Given the description of an element on the screen output the (x, y) to click on. 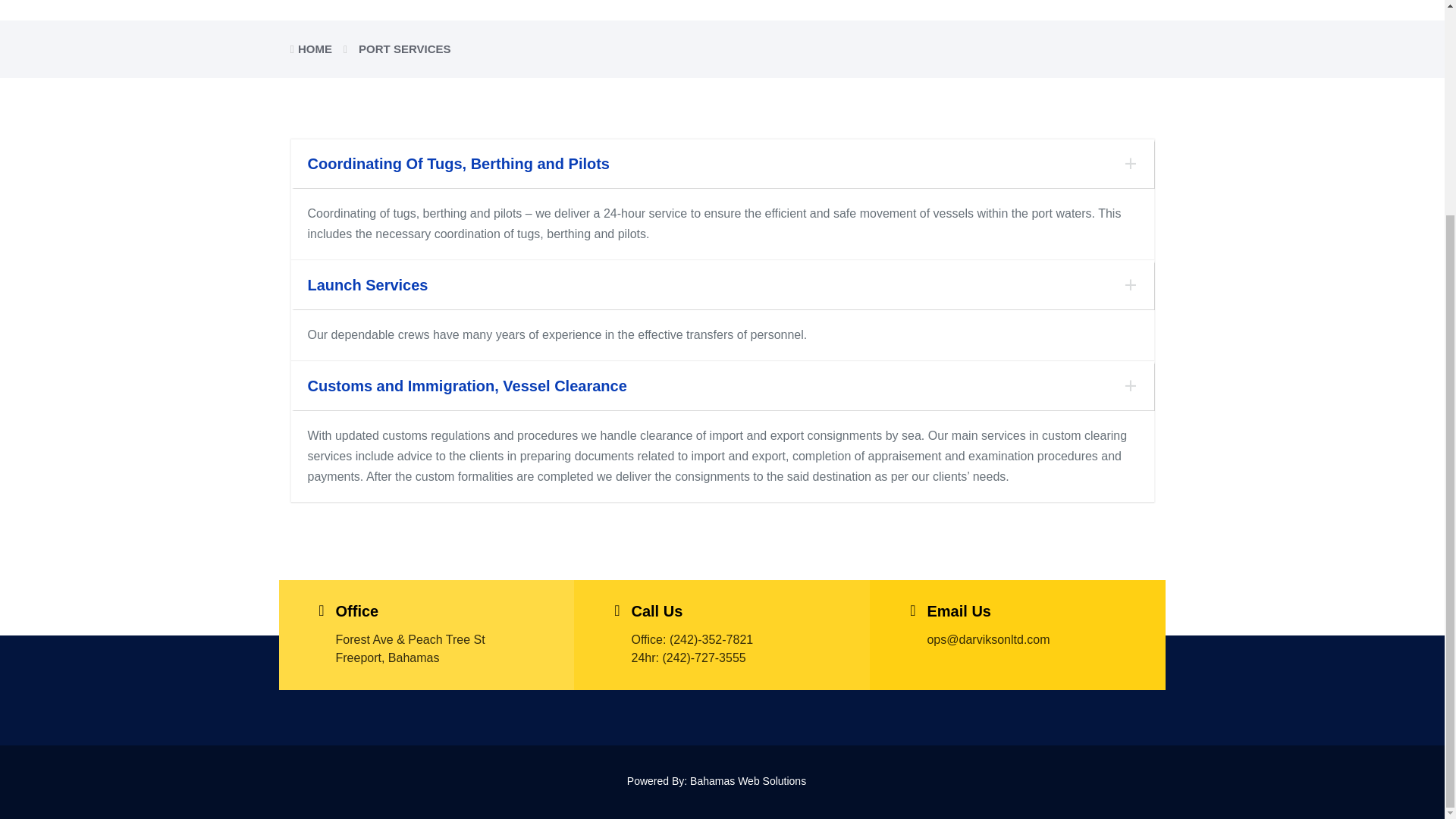
Launch Services (722, 284)
Bahamas Web Solutions (753, 780)
Coordinating Of Tugs, Berthing and Pilots (722, 163)
Customs and Immigration, Vessel Clearance (722, 385)
HOME (314, 48)
